Given the description of an element on the screen output the (x, y) to click on. 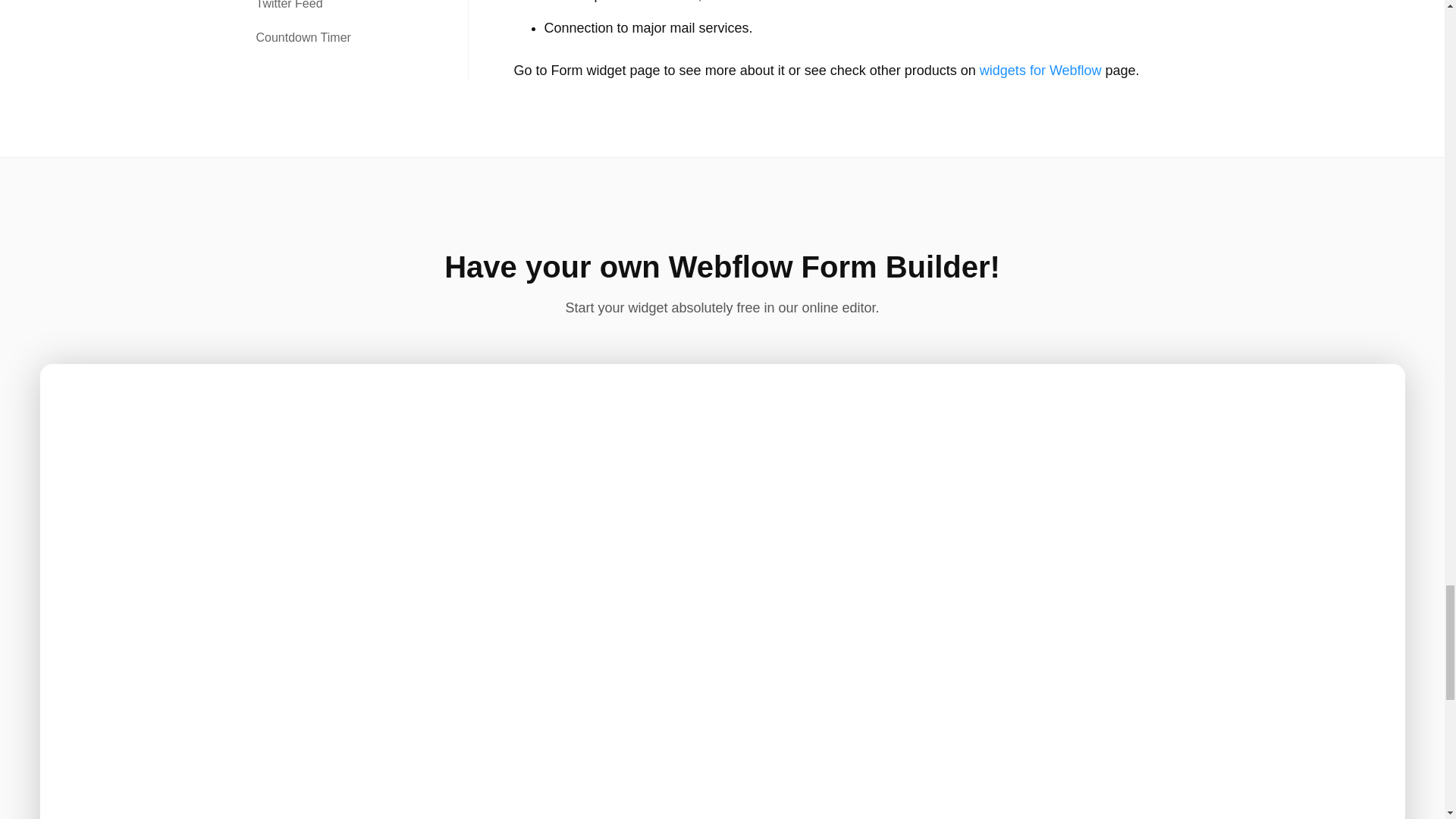
Full Screen (1381, 386)
